Given the description of an element on the screen output the (x, y) to click on. 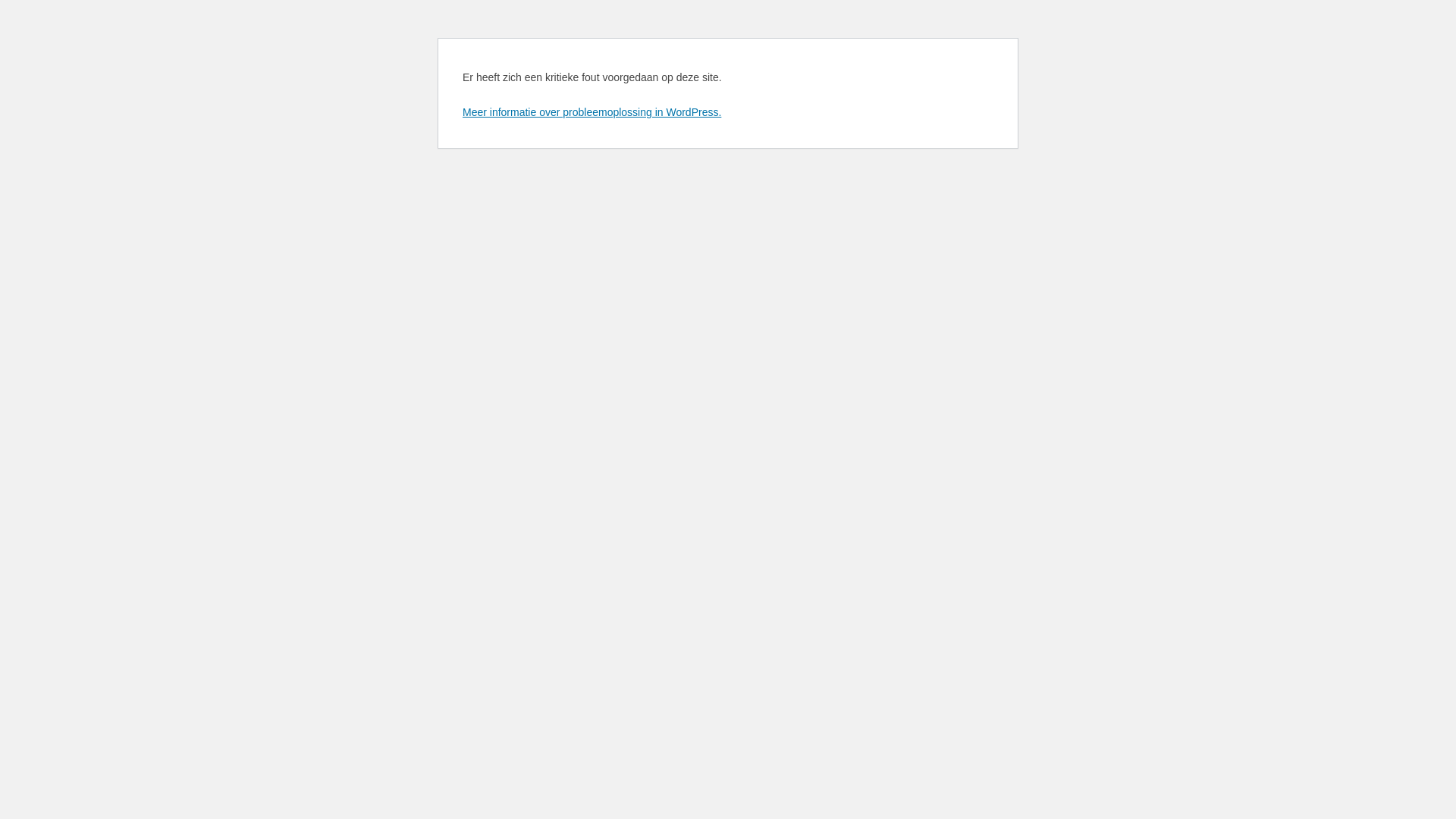
Meer informatie over probleemoplossing in WordPress. Element type: text (591, 112)
